Given the description of an element on the screen output the (x, y) to click on. 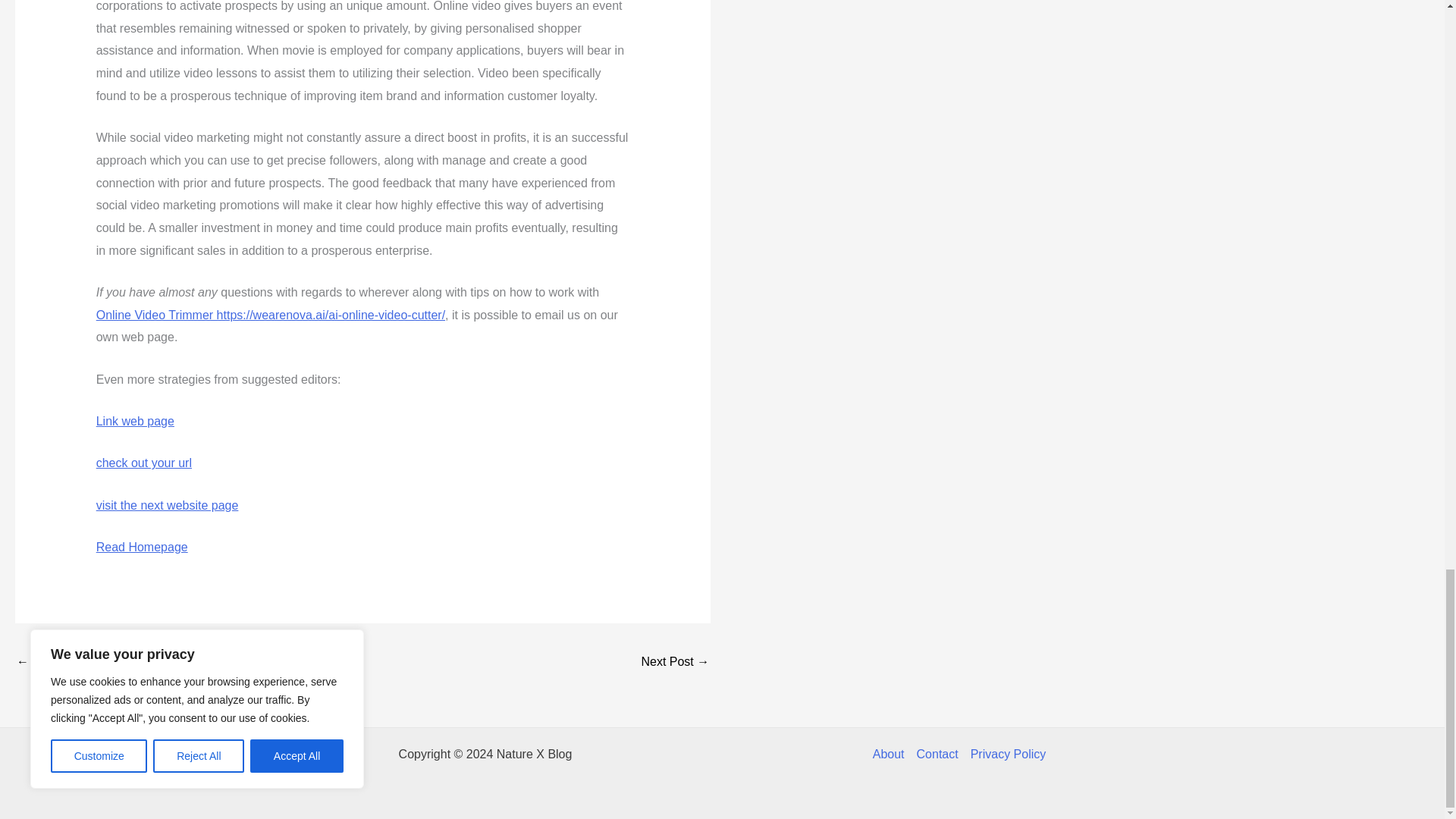
Read Homepage (141, 546)
check out your url (144, 462)
Link web page (135, 420)
Skincare Routines For Healthier And Younger Looking Skin (674, 663)
visit the next website page (167, 504)
